Given the description of an element on the screen output the (x, y) to click on. 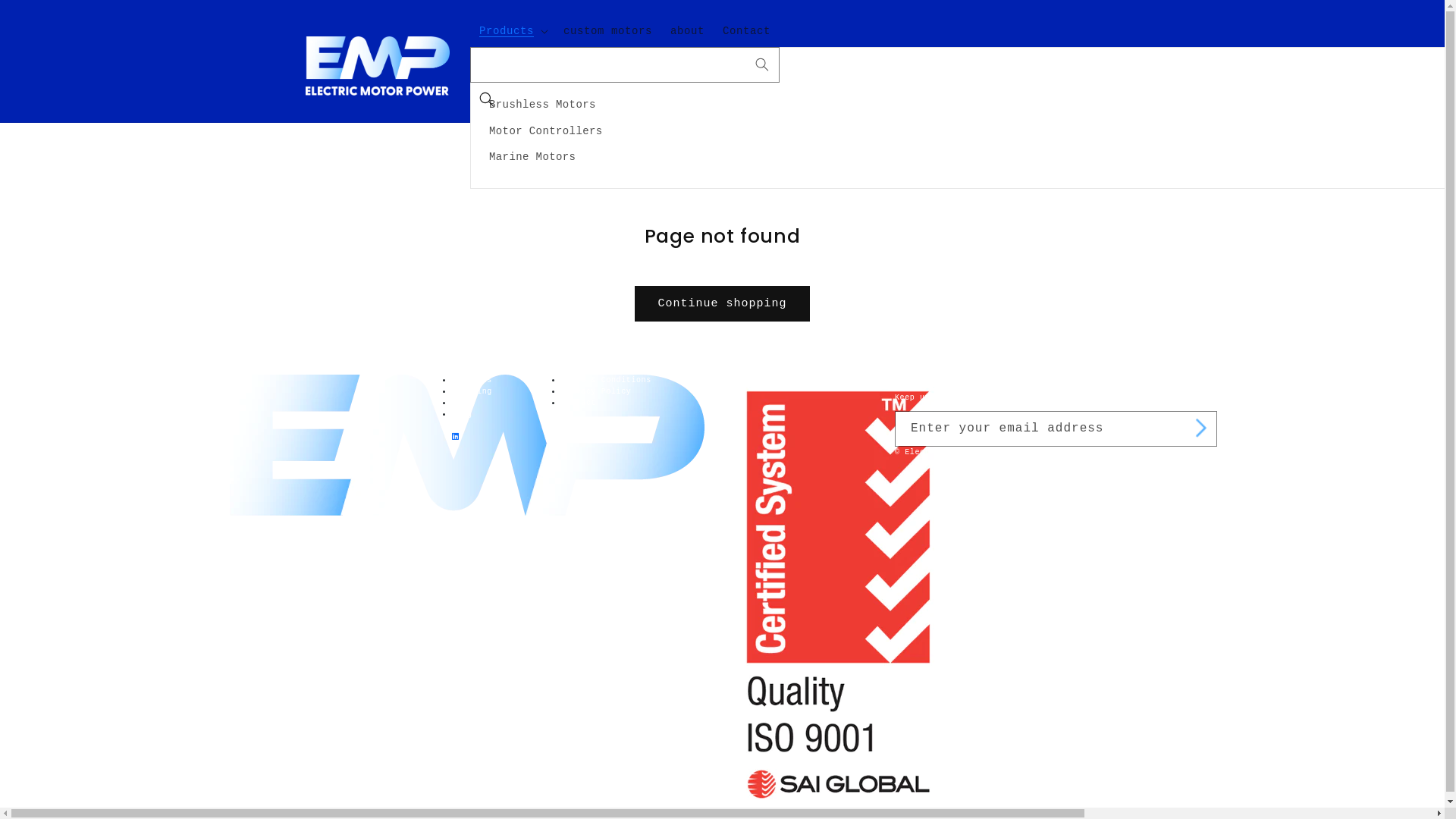
Terms & Conditions Element type: text (606, 380)
Contact Element type: text (578, 402)
Continue shopping Element type: text (721, 303)
Privacy Policy Element type: text (595, 391)
Shipping Element type: text (471, 391)
about Element type: text (687, 31)
Blog Element type: text (461, 414)
Contact Element type: text (746, 31)
Products Element type: text (506, 30)
custom motors Element type: text (607, 31)
Products Element type: text (471, 380)
FAQs Element type: text (461, 402)
